Given the description of an element on the screen output the (x, y) to click on. 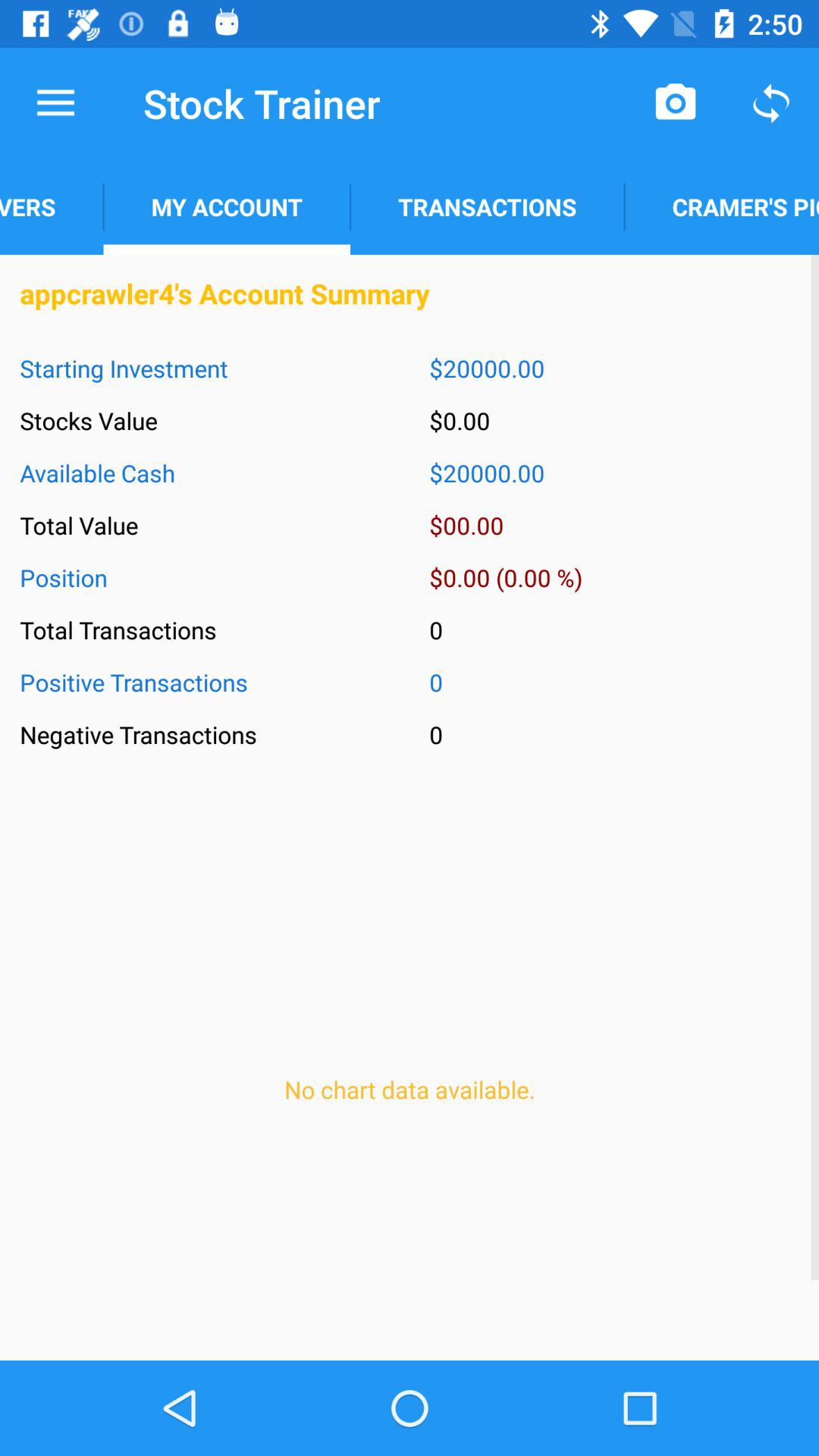
select the app to the right of the top movers (226, 206)
